Given the description of an element on the screen output the (x, y) to click on. 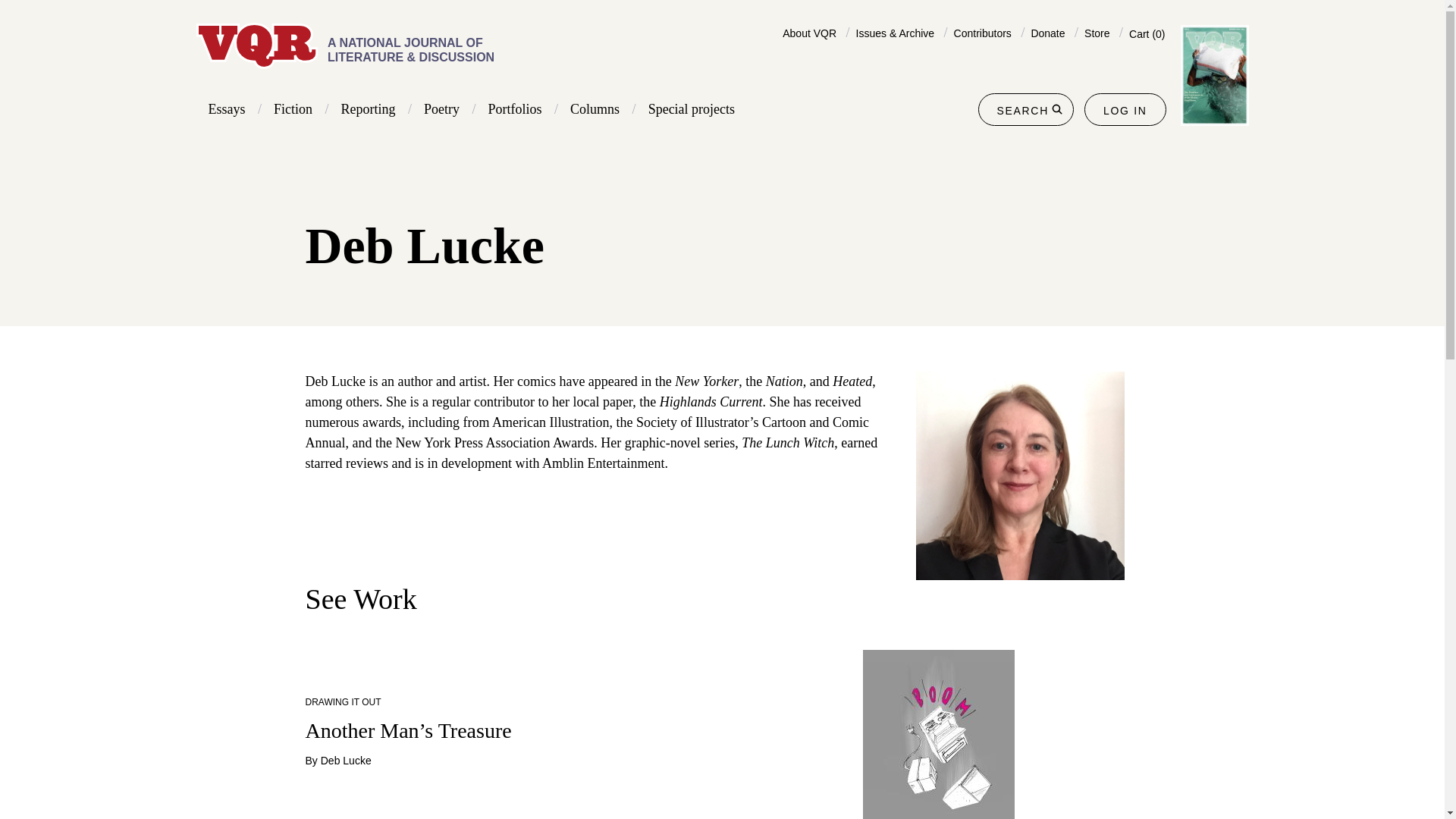
Special projects (691, 109)
Fiction (293, 109)
Deb Lucke (345, 760)
SEARCH (1025, 109)
LOG IN (1125, 110)
Poetry (441, 109)
Donate (1047, 33)
Store (1096, 33)
About VQR (809, 33)
Columns (595, 109)
Reporting (368, 109)
Contributors (982, 33)
Essays (226, 109)
Portfolios (514, 109)
